Given the description of an element on the screen output the (x, y) to click on. 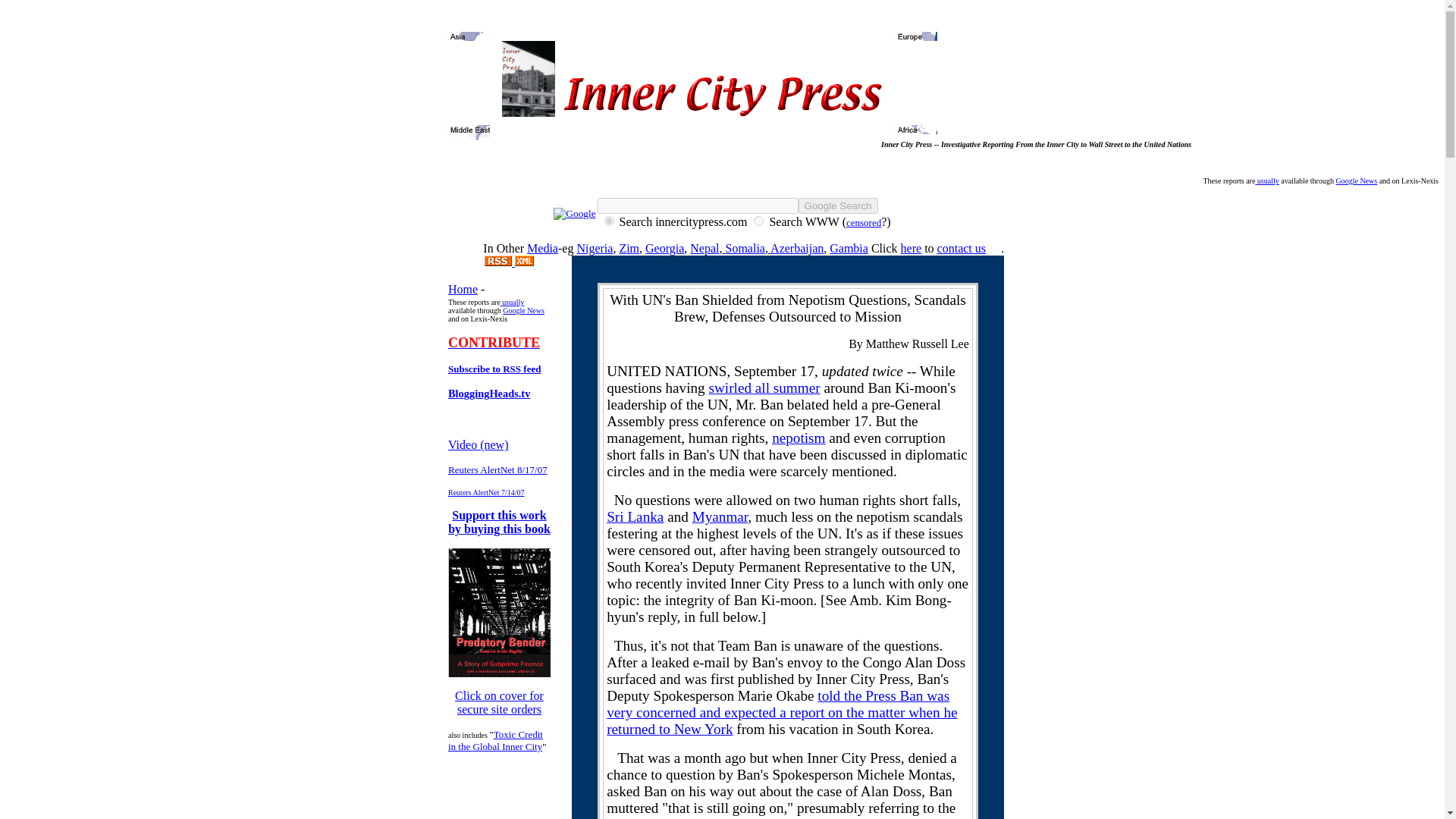
Nepal (704, 247)
Gambia (848, 247)
contact us (961, 247)
Google Search (837, 205)
censored (862, 222)
innercitypress.com (609, 221)
Georgia (664, 247)
buying this book (507, 528)
usually (512, 302)
Click on cover for secure site orders (498, 702)
here (911, 247)
Google Search (837, 205)
Nigeria (594, 247)
usually (1266, 180)
Google News (1356, 178)
